Given the description of an element on the screen output the (x, y) to click on. 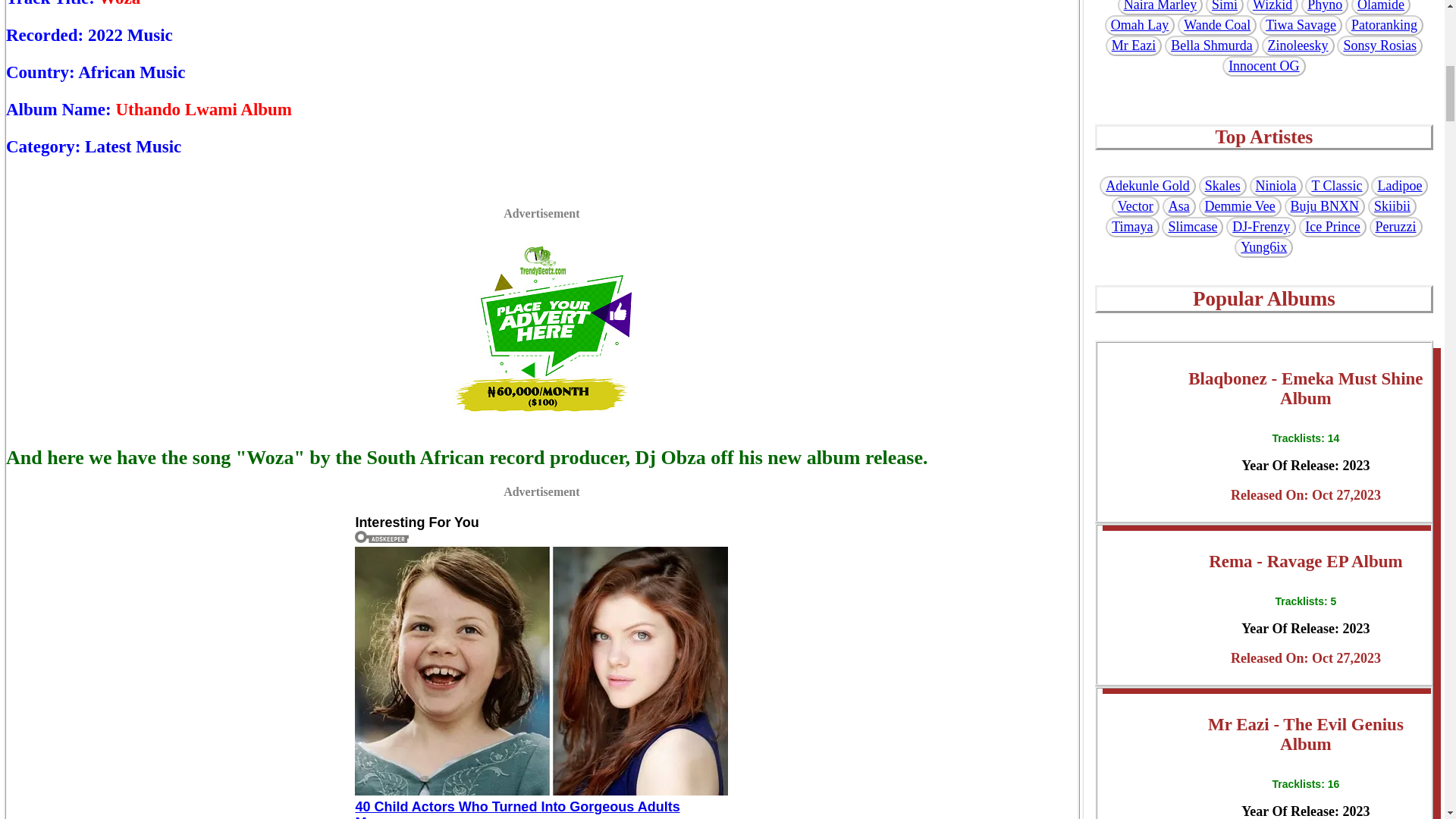
Latest Music (132, 146)
African Music (131, 72)
Uthando Lwami Album (203, 108)
2022 Music (130, 35)
